Given the description of an element on the screen output the (x, y) to click on. 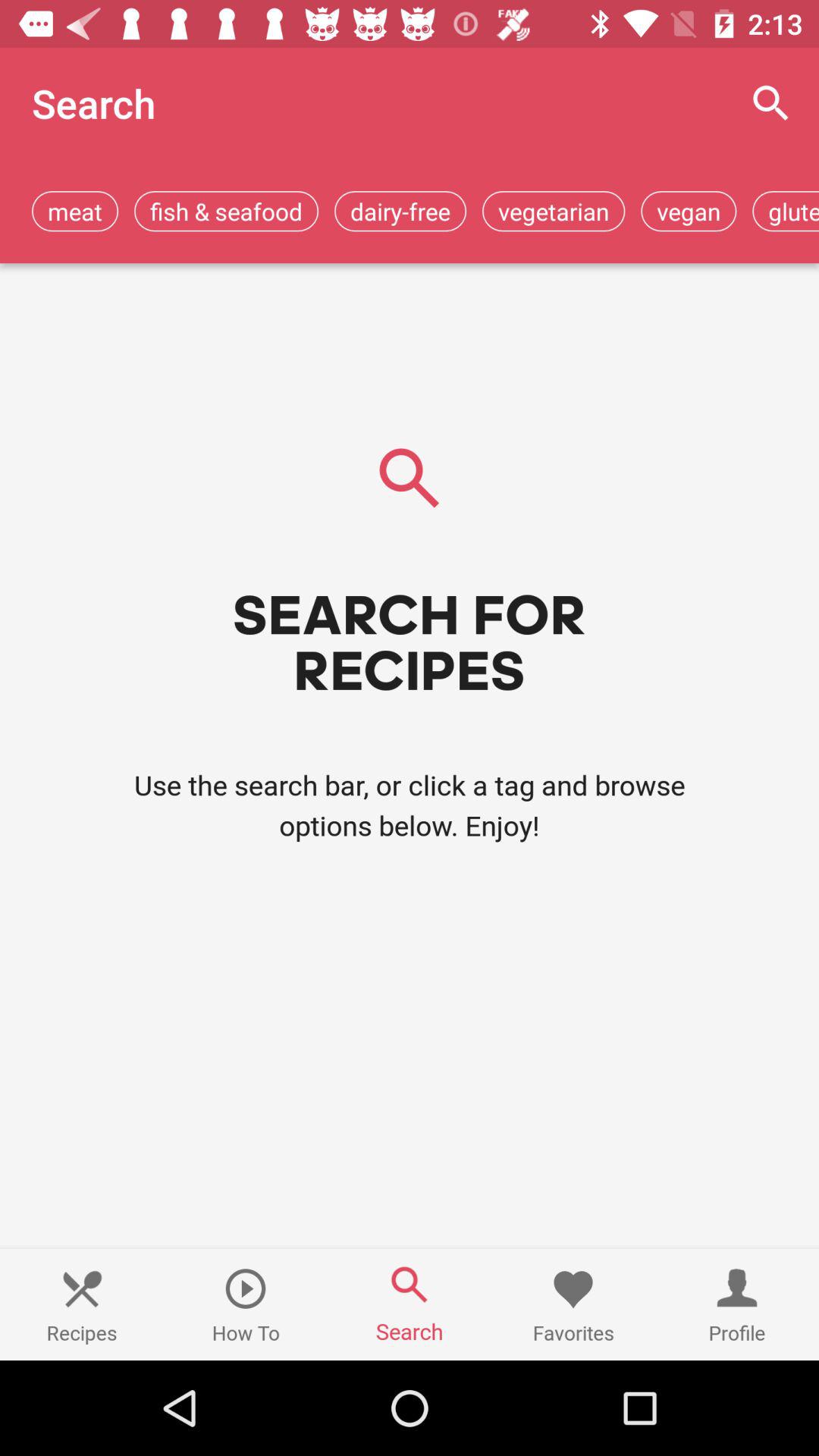
tap the item next to fish & seafood icon (74, 211)
